Given the description of an element on the screen output the (x, y) to click on. 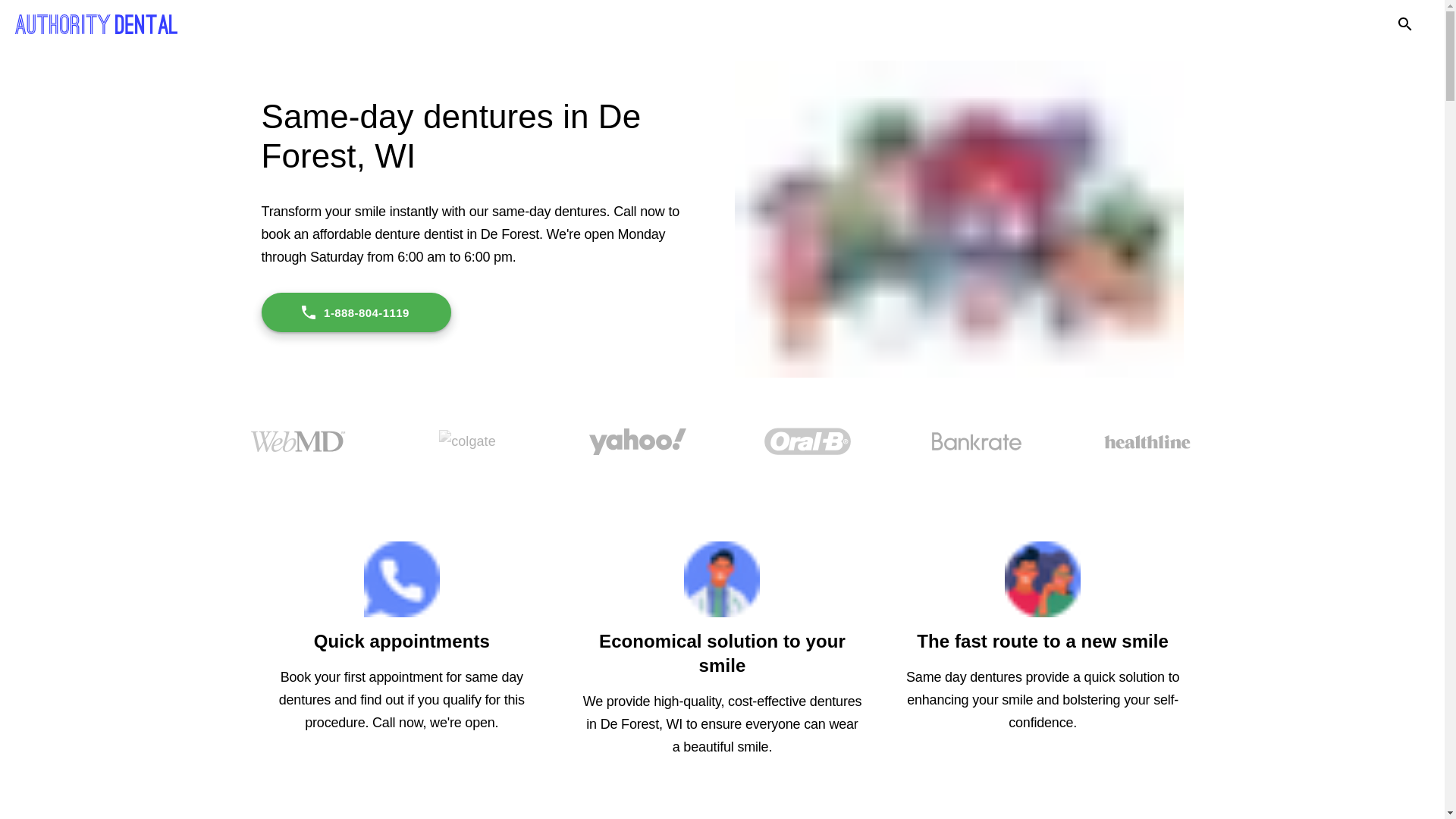
1-888-804-1119 (354, 312)
